Given the description of an element on the screen output the (x, y) to click on. 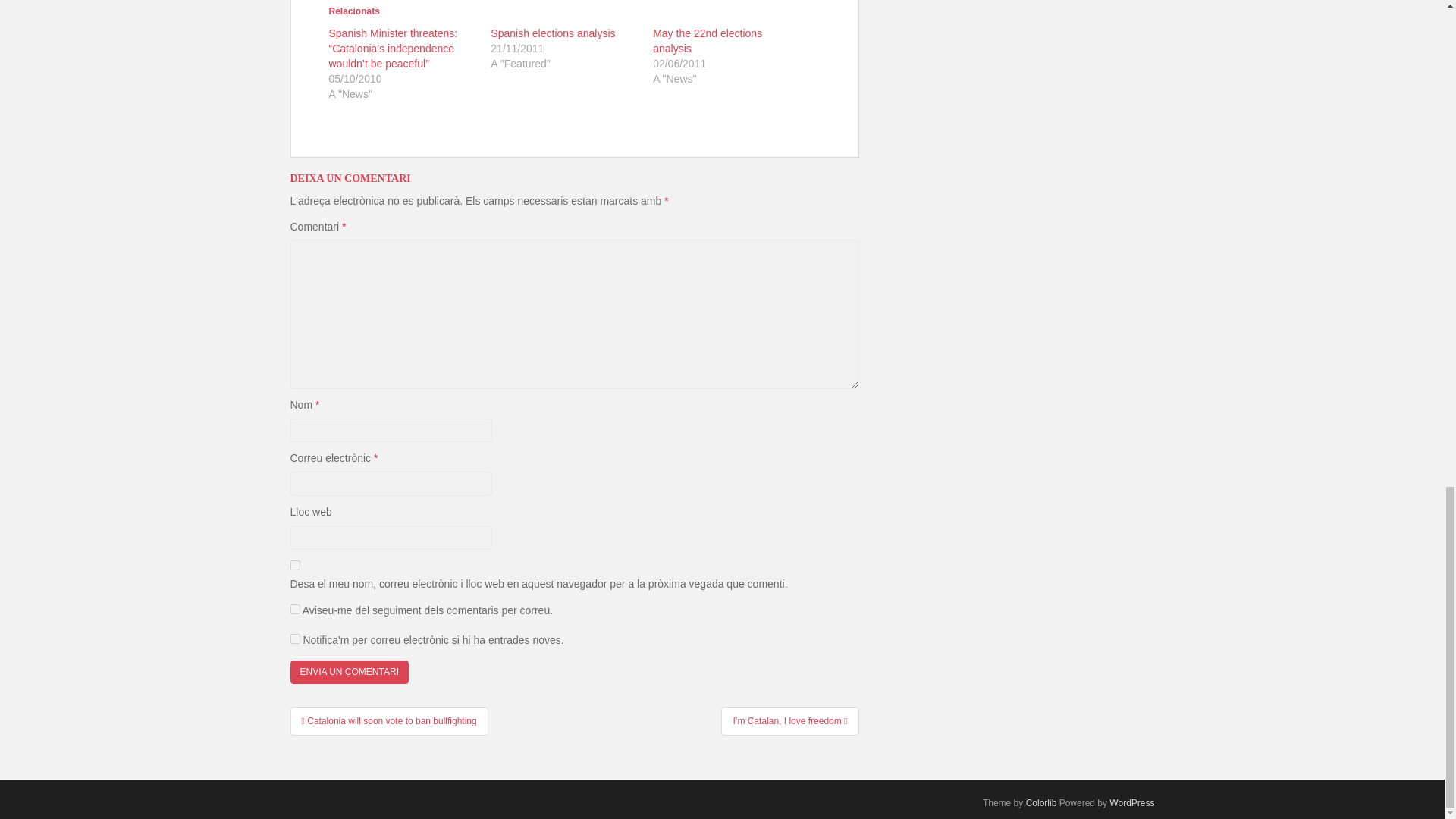
May the 22nd elections analysis (706, 40)
subscribe (294, 609)
yes (294, 565)
Envia un comentari (348, 671)
May the 22nd elections analysis (706, 40)
Spanish elections analysis (552, 33)
Envia un comentari (348, 671)
WordPress (1131, 802)
Spanish elections analysis (552, 33)
subscribe (294, 638)
Catalonia will soon vote to ban bullfighting (388, 720)
Colorlib (1041, 802)
